Given the description of an element on the screen output the (x, y) to click on. 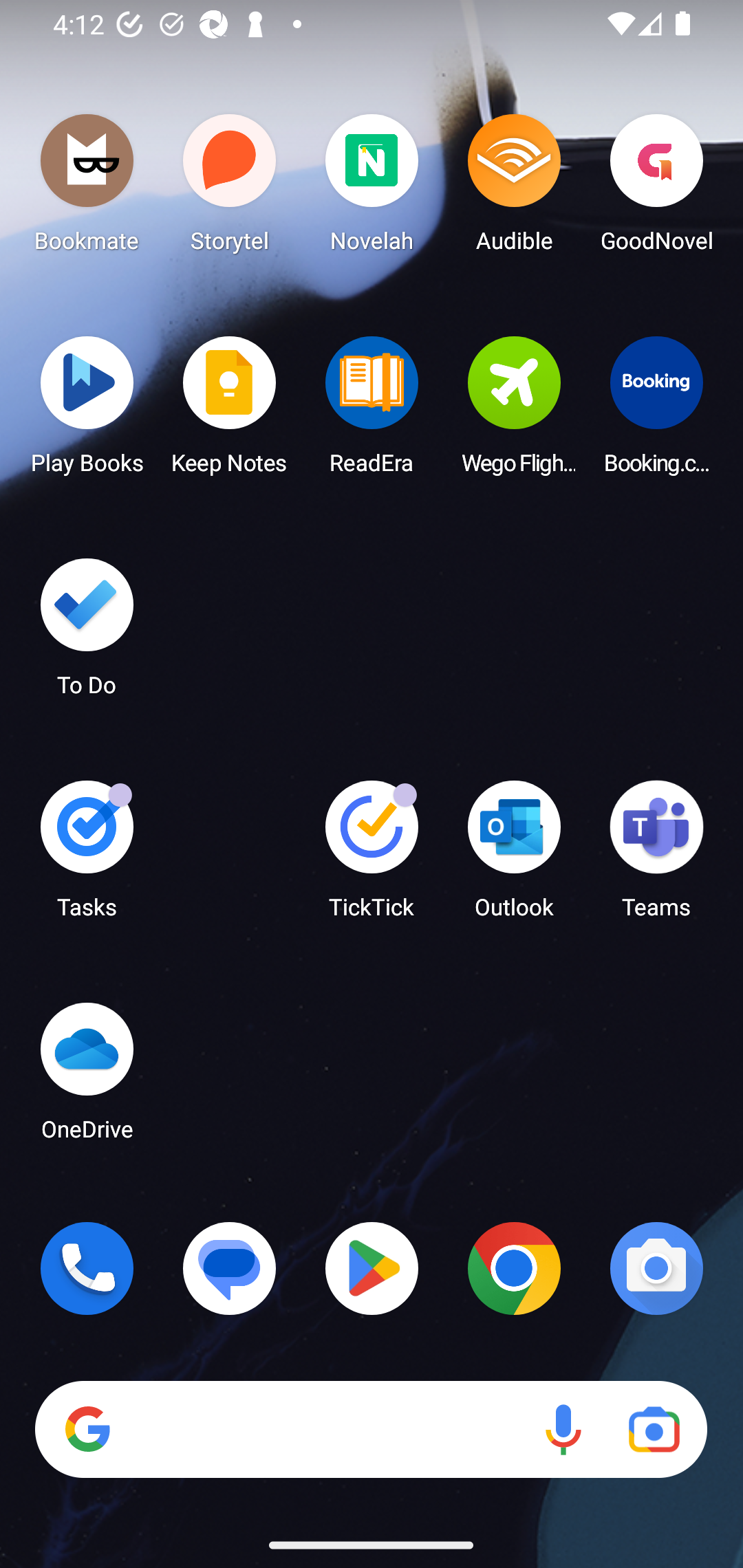
Bookmate (86, 188)
Storytel (229, 188)
Novelah (371, 188)
Audible (513, 188)
GoodNovel (656, 188)
Play Books (86, 410)
Keep Notes (229, 410)
ReadEra (371, 410)
Wego Flights & Hotels (513, 410)
Booking.com (656, 410)
To Do (86, 633)
Tasks Tasks has 1 notification (86, 854)
TickTick TickTick has 3 notifications (371, 854)
Outlook (513, 854)
Teams (656, 854)
OneDrive (86, 1076)
Phone (86, 1268)
Messages (229, 1268)
Play Store (371, 1268)
Chrome (513, 1268)
Camera (656, 1268)
Voice search (562, 1429)
Google Lens (653, 1429)
